Given the description of an element on the screen output the (x, y) to click on. 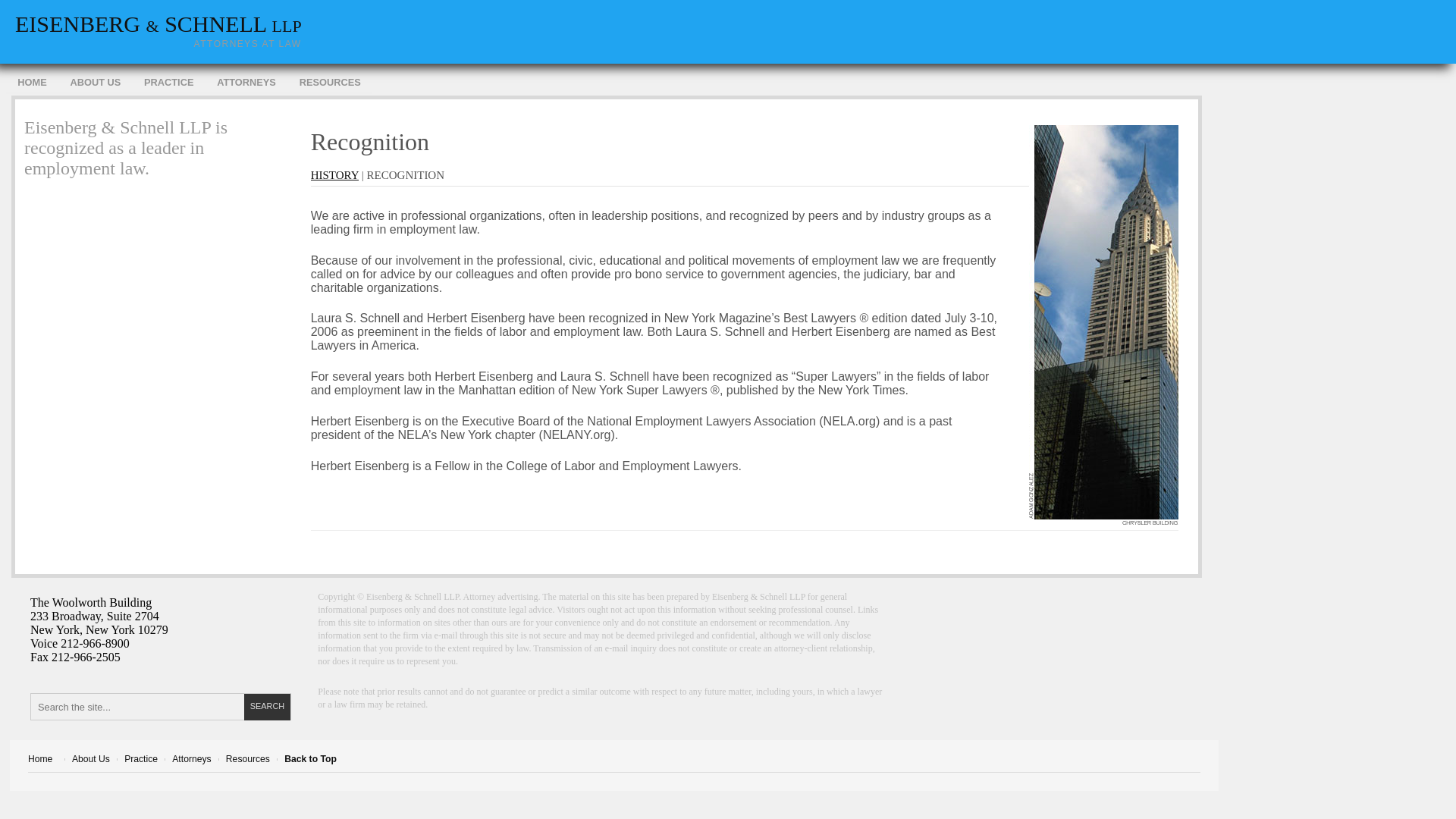
Back to Top (309, 759)
History (334, 174)
HOME (31, 83)
ABOUT US (95, 83)
RESOURCES (329, 83)
About Us (90, 759)
Resources (247, 759)
PRACTICE (168, 83)
ATTORNEYS (245, 83)
Home (39, 759)
HISTORY (334, 174)
Attorneys (191, 759)
Search (267, 706)
Search (267, 706)
Practice (140, 759)
